Given the description of an element on the screen output the (x, y) to click on. 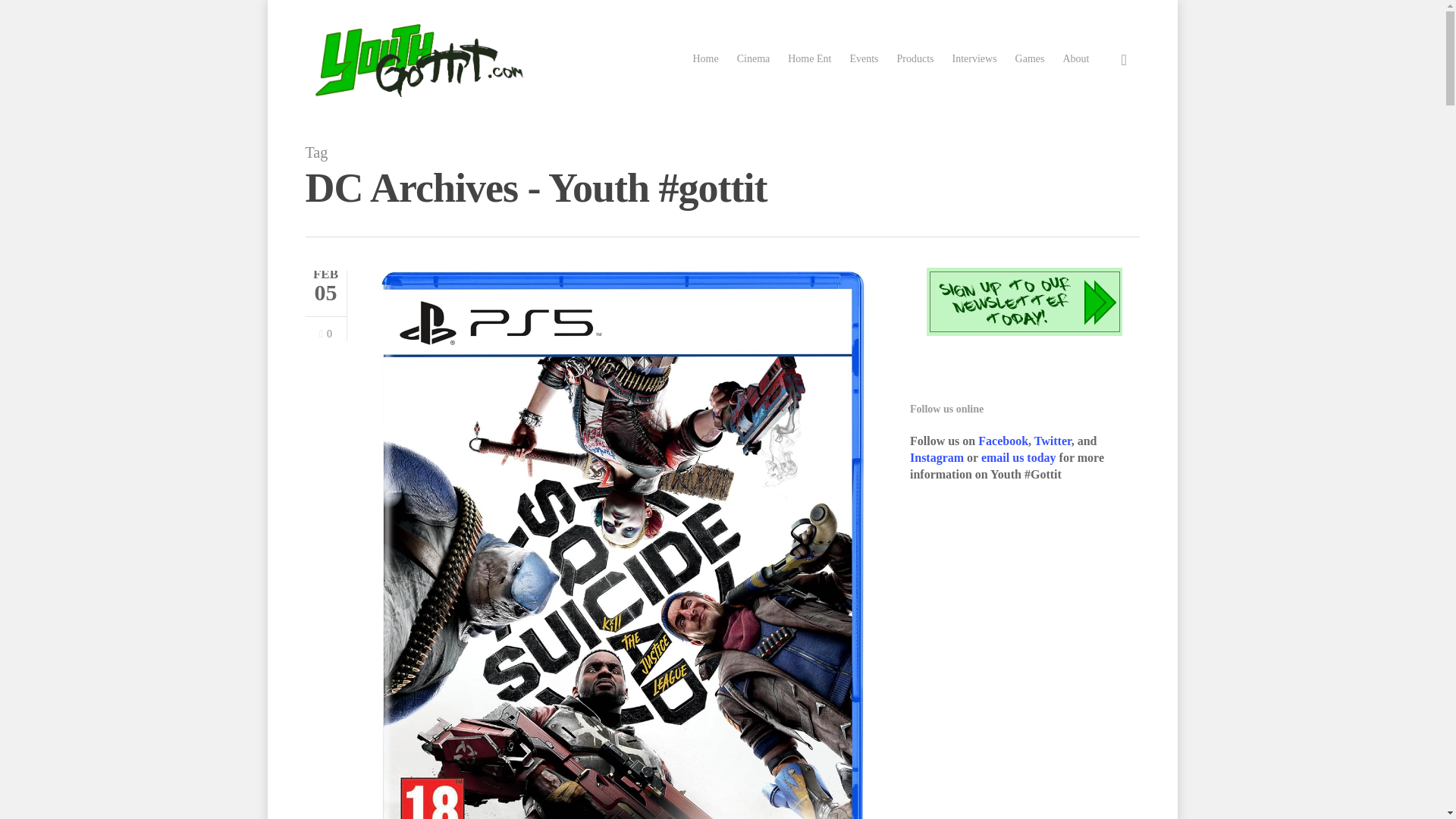
Products (915, 58)
0 (324, 334)
Cinema (753, 58)
Twitter (1052, 440)
Events (862, 58)
Love this (324, 334)
Games (1029, 58)
Facebook (1002, 440)
Interviews (974, 58)
About (1075, 58)
